Given the description of an element on the screen output the (x, y) to click on. 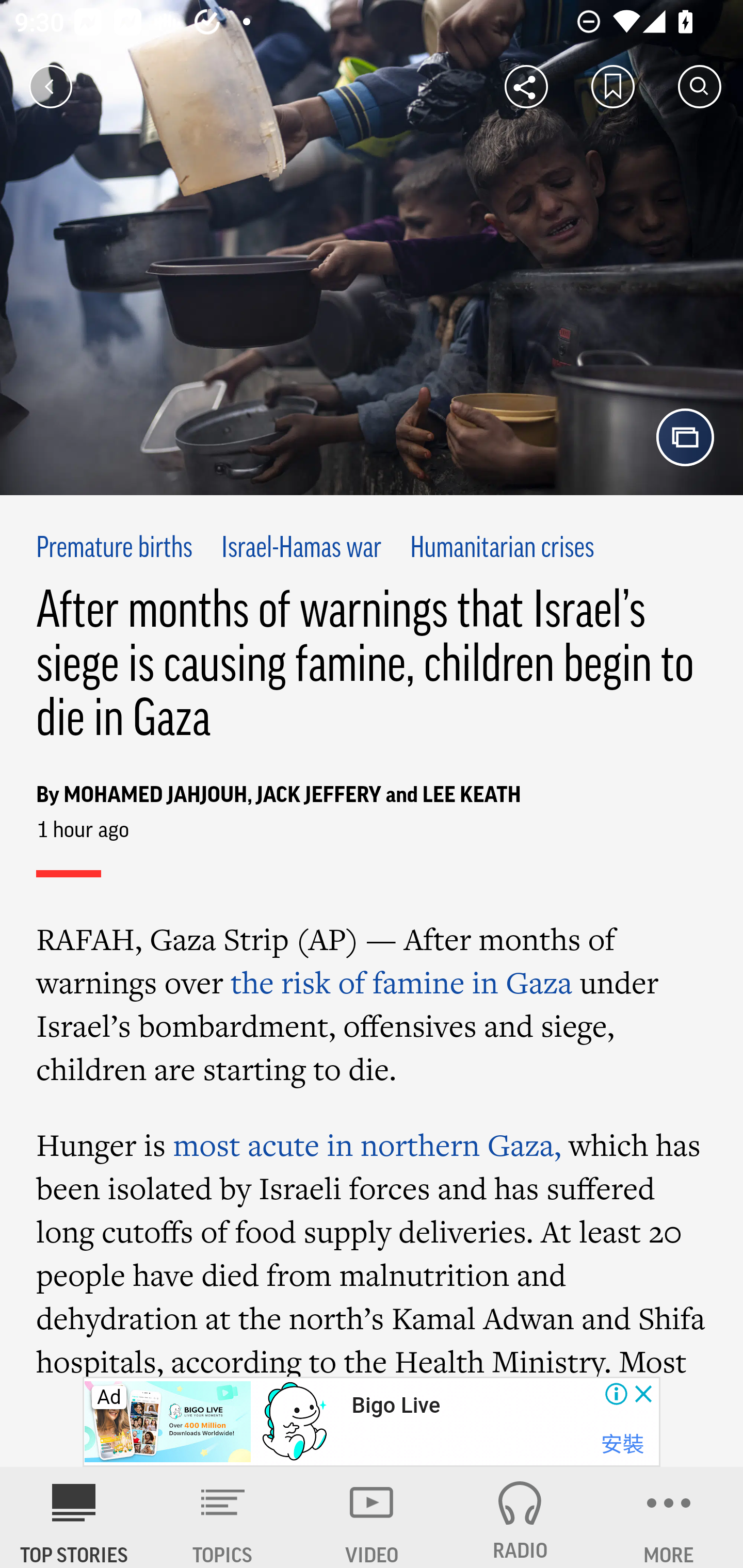
Premature births (114, 549)
Israel-Hamas war (301, 549)
Humanitarian crises (501, 549)
the risk of famine in Gaza (401, 982)
most acute in northern Gaza, (366, 1144)
Bigo Live (395, 1405)
安裝 (621, 1444)
AP News TOP STORIES (74, 1517)
TOPICS (222, 1517)
VIDEO (371, 1517)
RADIO (519, 1517)
MORE (668, 1517)
